Given the description of an element on the screen output the (x, y) to click on. 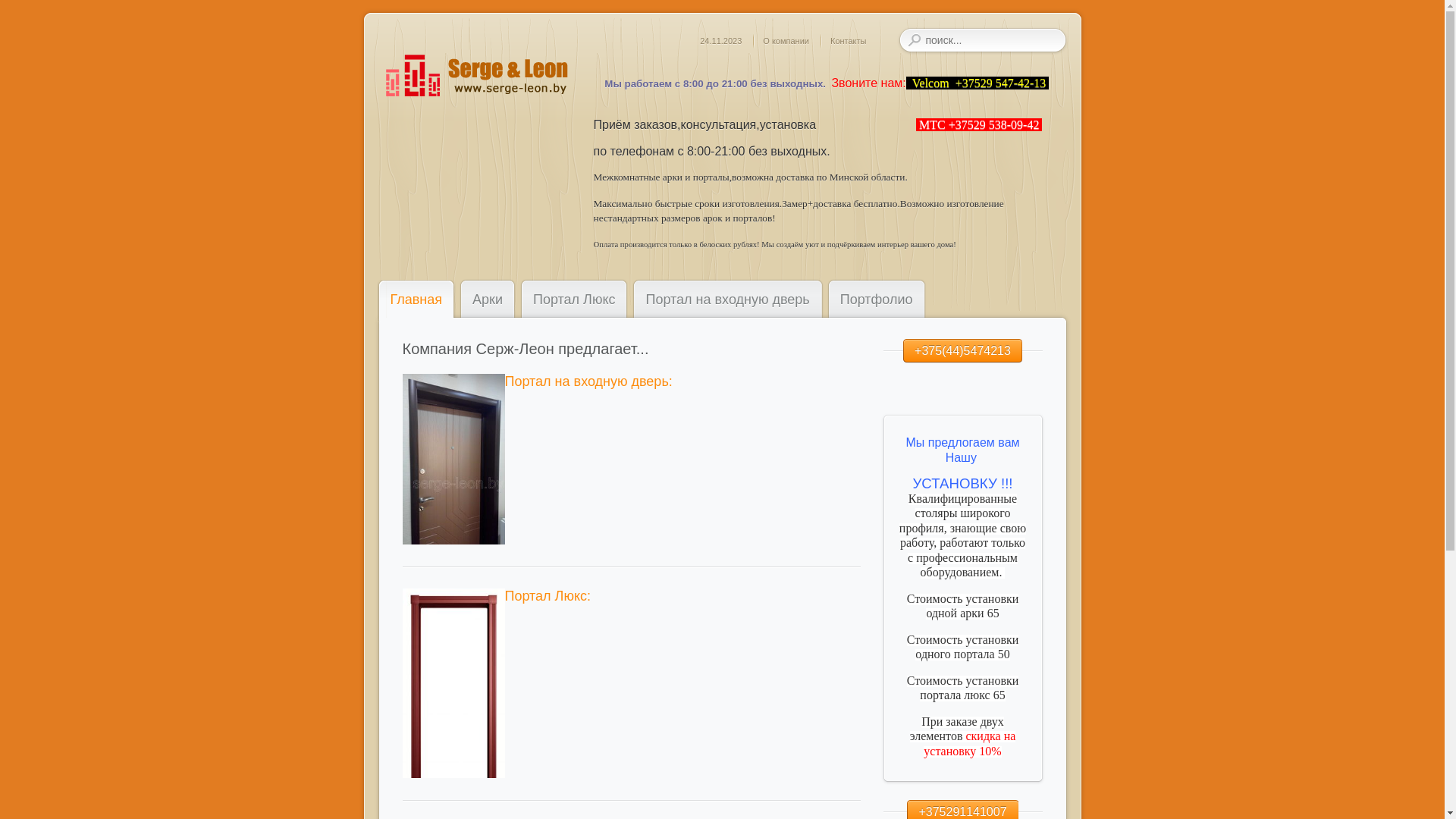
Search Element type: text (913, 39)
Home Element type: hover (475, 75)
Reset Element type: text (8, 11)
